Given the description of an element on the screen output the (x, y) to click on. 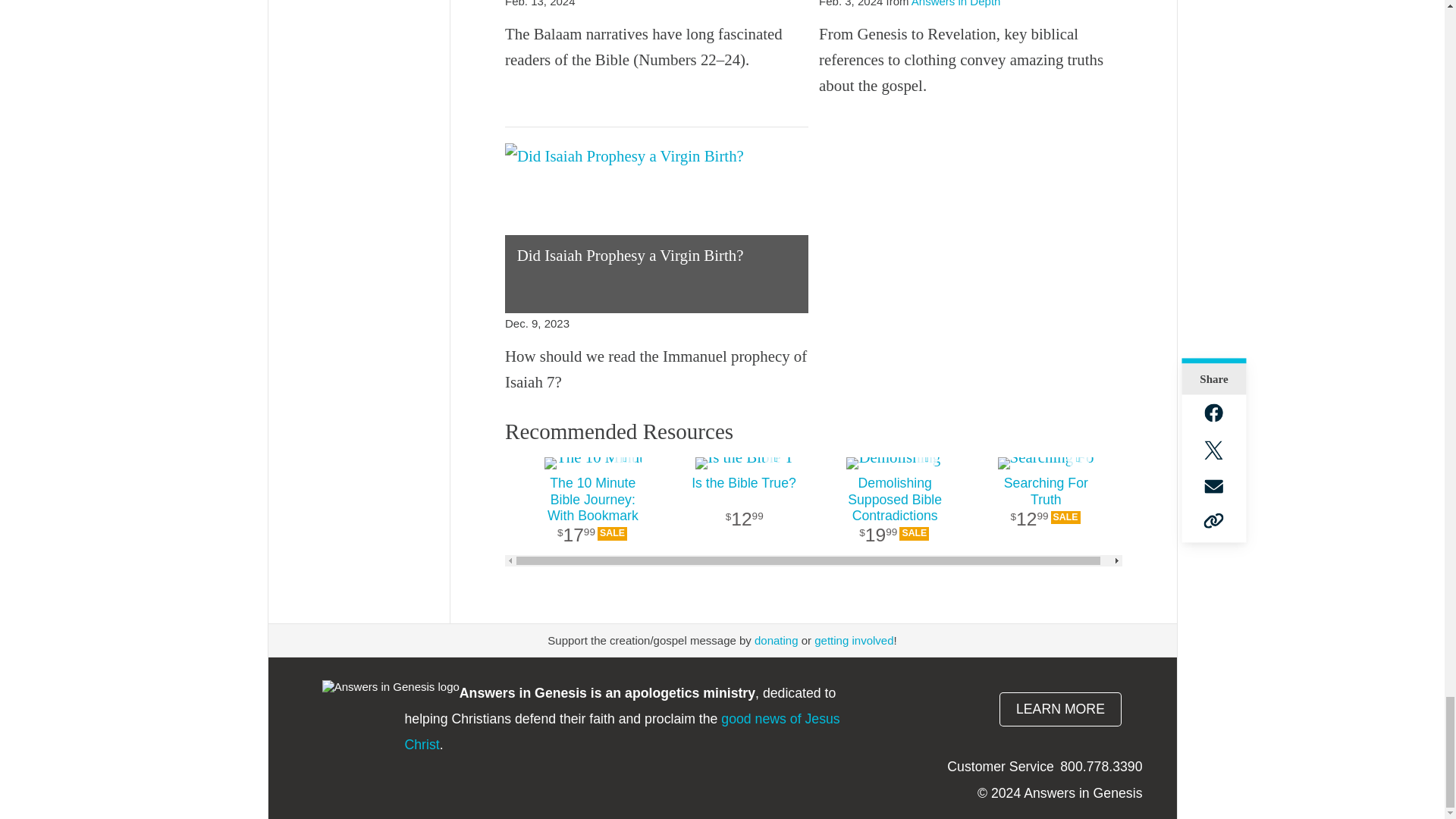
The 10 Minute Bible Journey: With Bookmark (592, 463)
Is the Bible True? (742, 463)
The 10 Minute Bible Journey: With Bookmark (592, 511)
Is the Bible True? (743, 511)
